Given the description of an element on the screen output the (x, y) to click on. 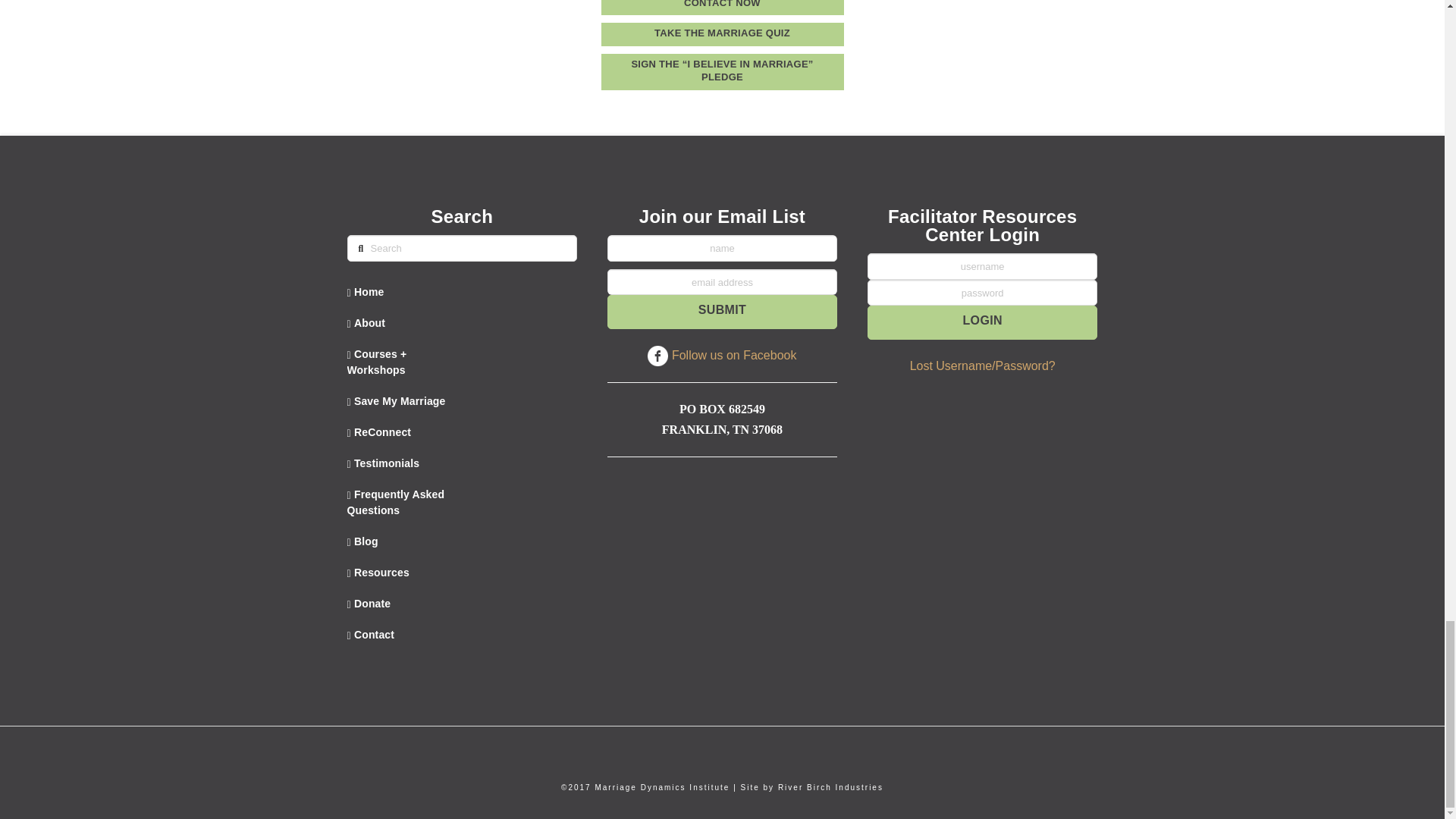
Login (982, 322)
Submit (722, 311)
